Given the description of an element on the screen output the (x, y) to click on. 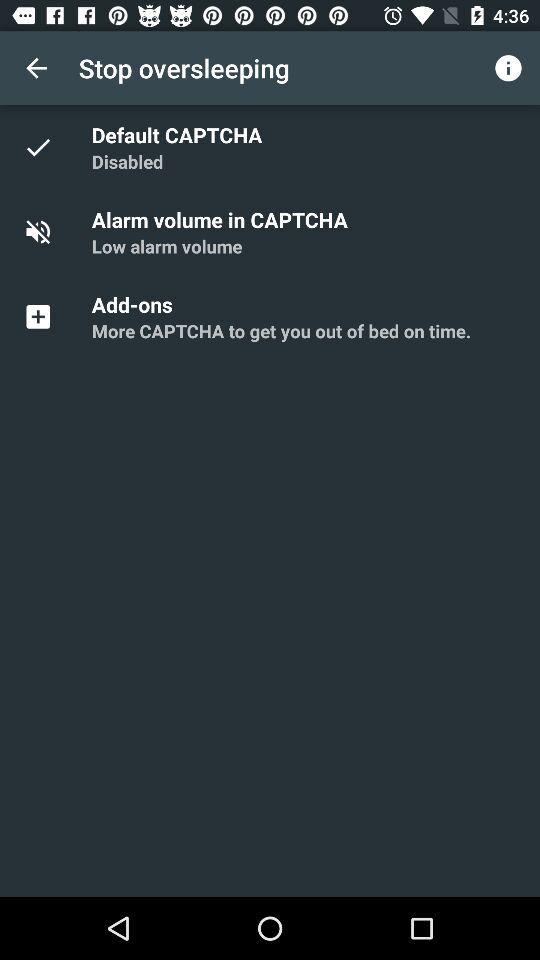
choose icon above the more captcha to (135, 304)
